Given the description of an element on the screen output the (x, y) to click on. 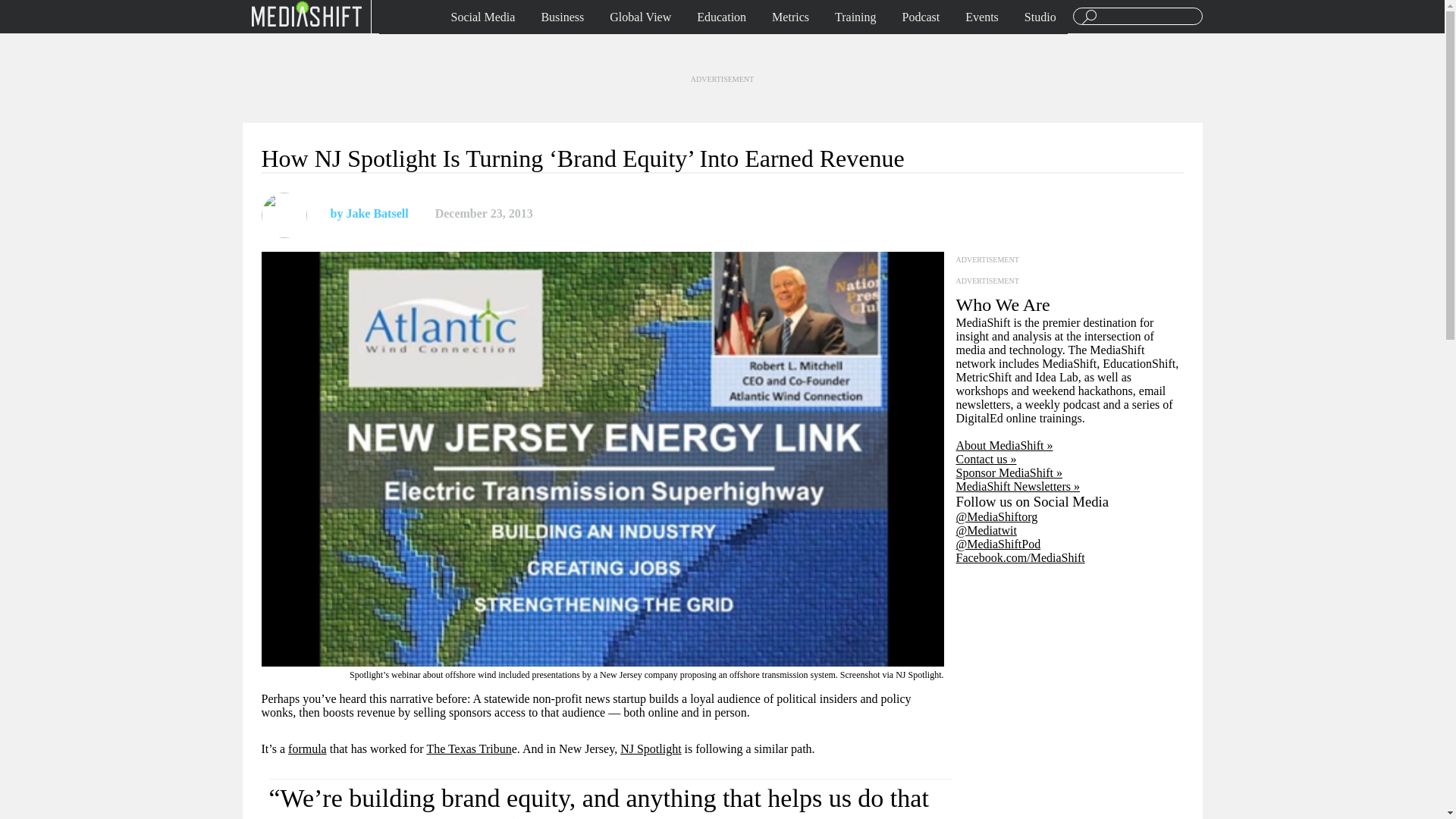
Events (981, 17)
Business (562, 17)
Global View (640, 17)
Podcast (921, 17)
Social Media (483, 17)
Share by Email (614, 213)
Mediashift (305, 13)
Studio (1040, 17)
Education (721, 17)
Metrics (790, 17)
